Given the description of an element on the screen output the (x, y) to click on. 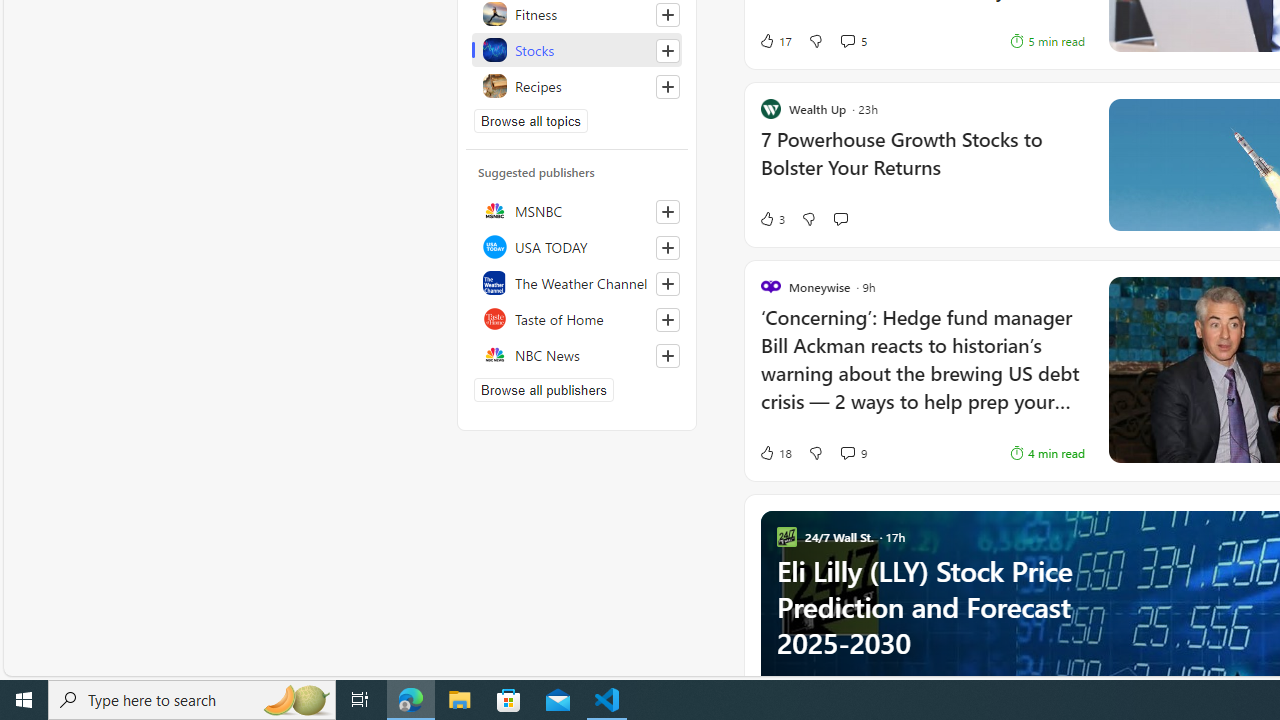
NBC News (577, 354)
Browse all publishers (543, 389)
Follow this source (667, 355)
View comments 9 Comment (847, 452)
Stocks (577, 49)
View comments 9 Comment (852, 452)
MSNBC (577, 210)
18 Like (775, 452)
